Given the description of an element on the screen output the (x, y) to click on. 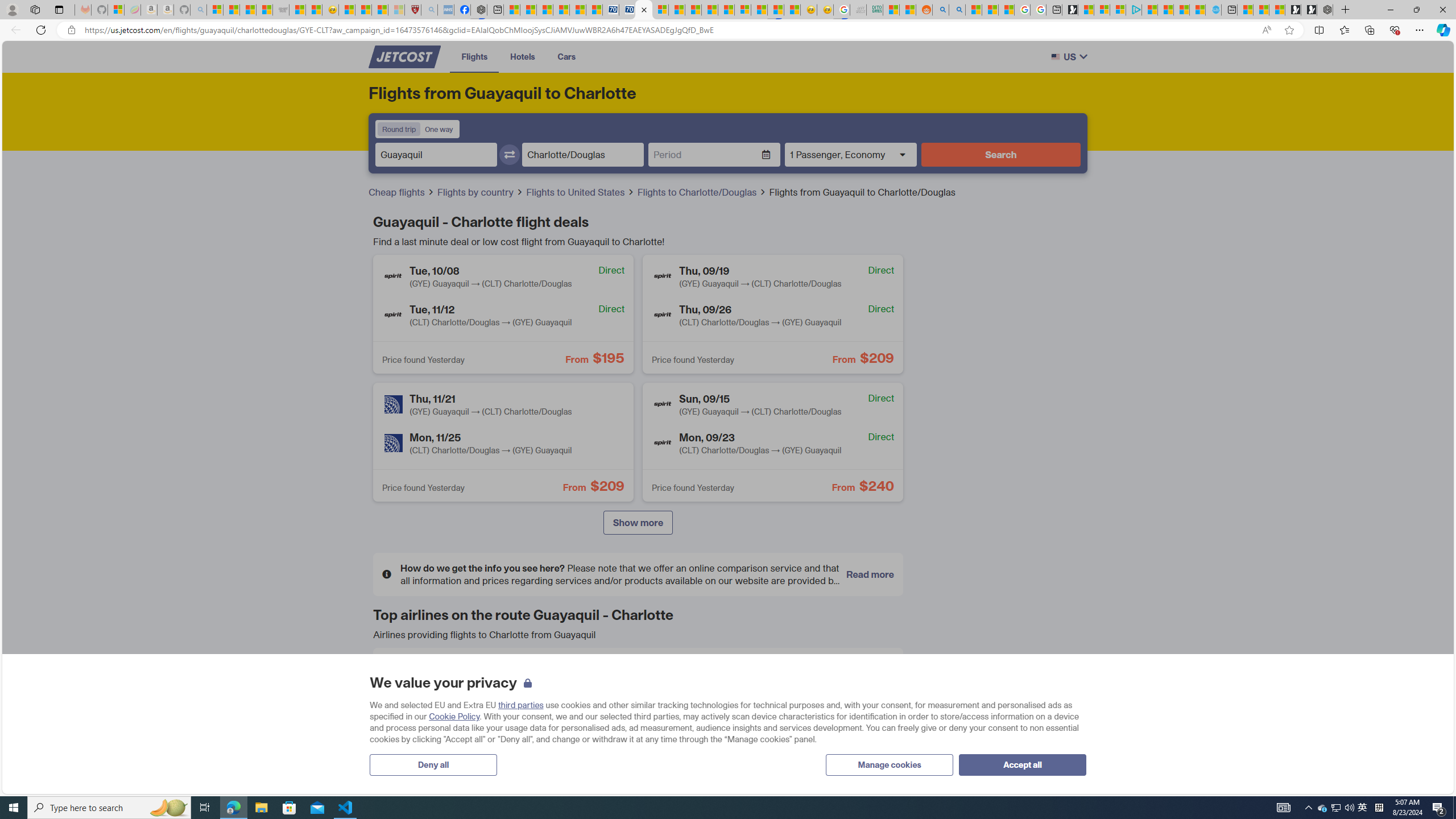
Class: absolute inset-0 (772, 441)
Class: no-underline cursor-pointer (404, 56)
United United (465, 757)
Manage cookies (889, 764)
